Given the description of an element on the screen output the (x, y) to click on. 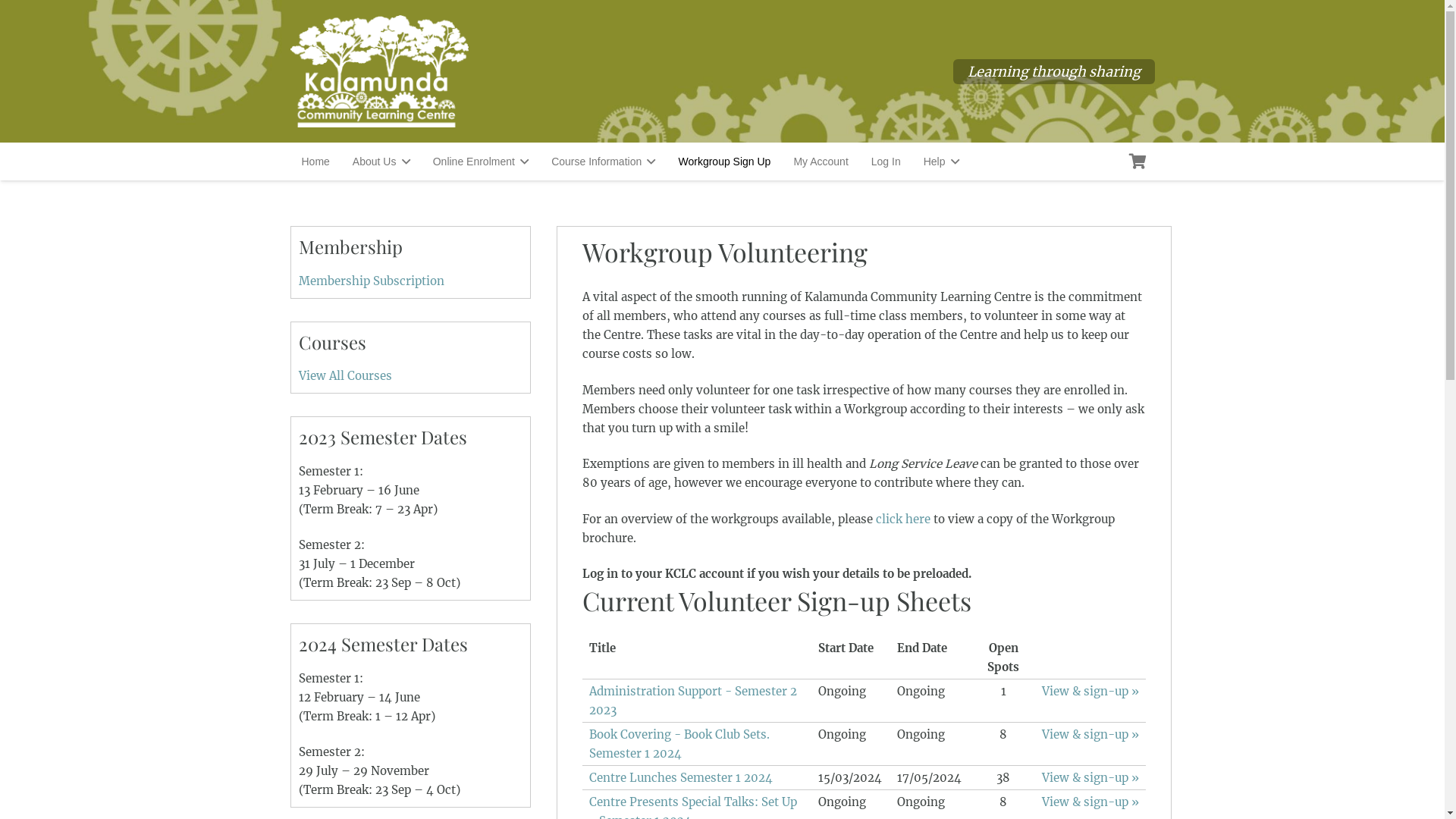
Book Covering - Book Club Sets. Semester 1 2024 Element type: text (679, 743)
click here Element type: text (902, 518)
Administration Support - Semester 2 2023 Element type: text (693, 700)
Workgroup Sign Up Element type: text (723, 161)
View All Courses Element type: text (345, 375)
Online Enrolment Element type: text (480, 161)
Help Element type: text (941, 161)
Centre Lunches Semester 1 2024 Element type: text (680, 777)
Course Information Element type: text (602, 161)
Log In Element type: text (885, 161)
My Account Element type: text (820, 161)
About Us Element type: text (381, 161)
Membership Subscription Element type: text (371, 280)
Home Element type: text (314, 161)
0 Element type: text (1137, 161)
